Given the description of an element on the screen output the (x, y) to click on. 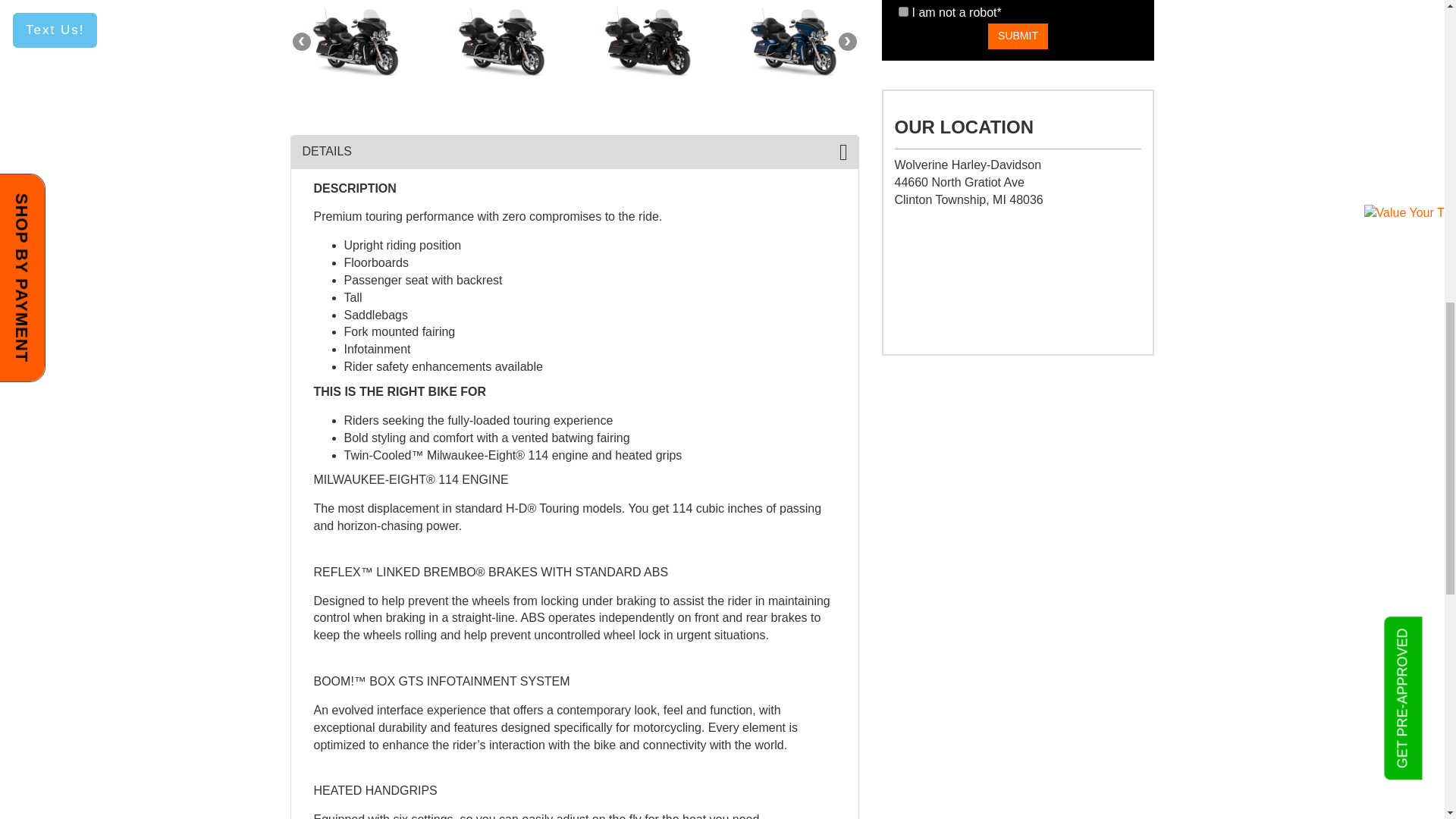
true (902, 11)
